Given the description of an element on the screen output the (x, y) to click on. 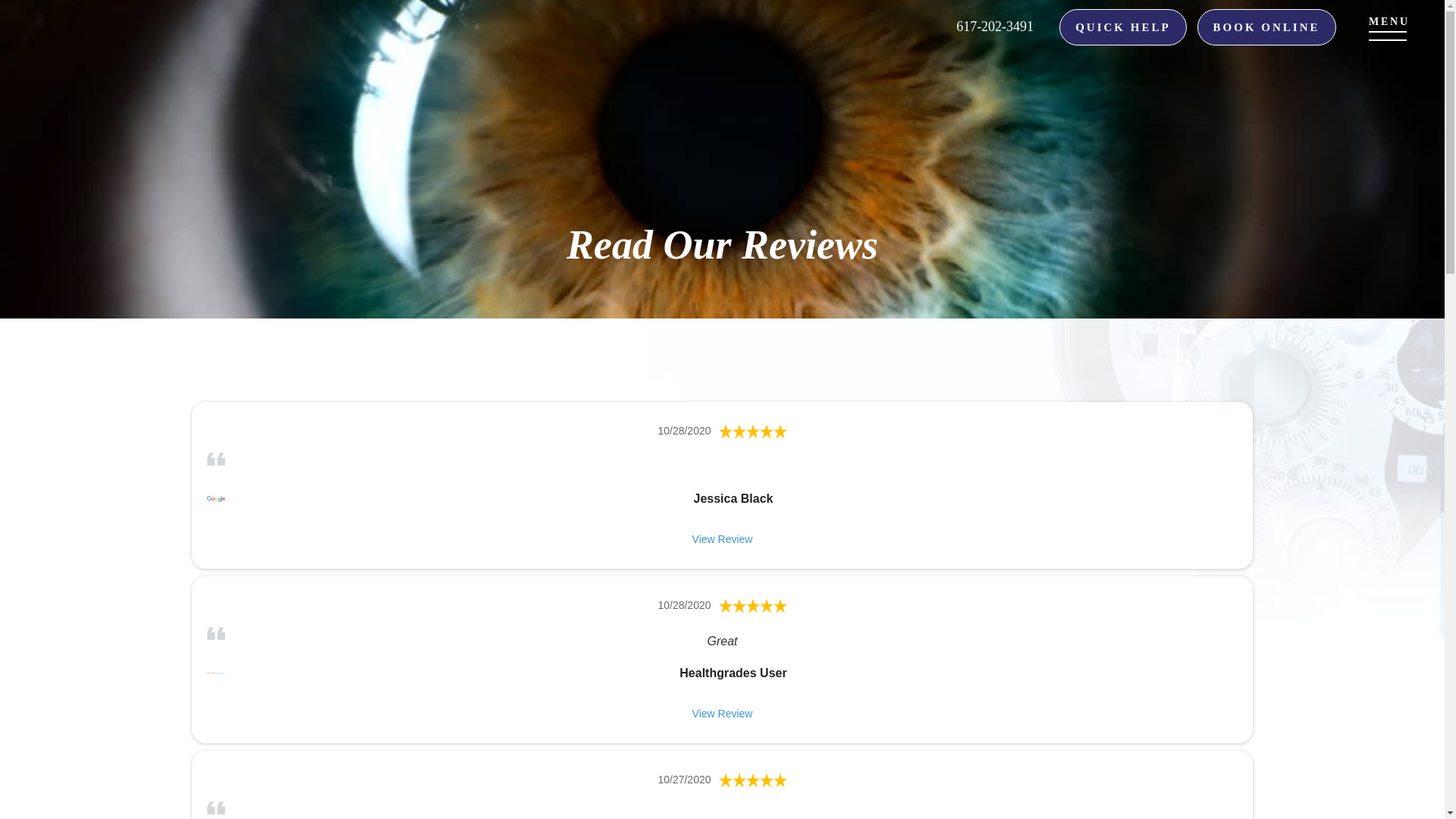
Google Business Profile (215, 498)
Healthgrades (215, 673)
MENU (1386, 27)
5 (753, 605)
5 (753, 780)
5 (753, 431)
